Given the description of an element on the screen output the (x, y) to click on. 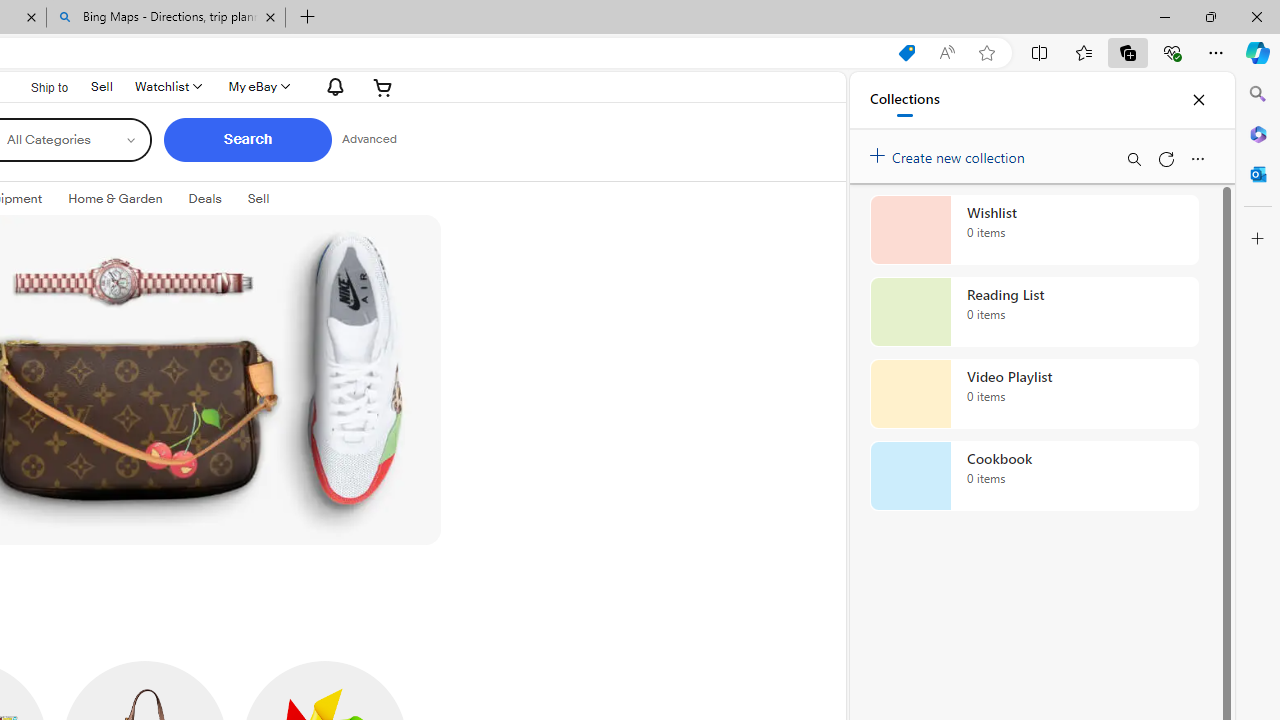
Deals (205, 199)
Cookbook collection, 0 items (1034, 475)
Wishlist collection, 0 items (1034, 229)
Home & Garden (114, 198)
Create new collection (950, 153)
AutomationID: gh-eb-Alerts (332, 86)
